Given the description of an element on the screen output the (x, y) to click on. 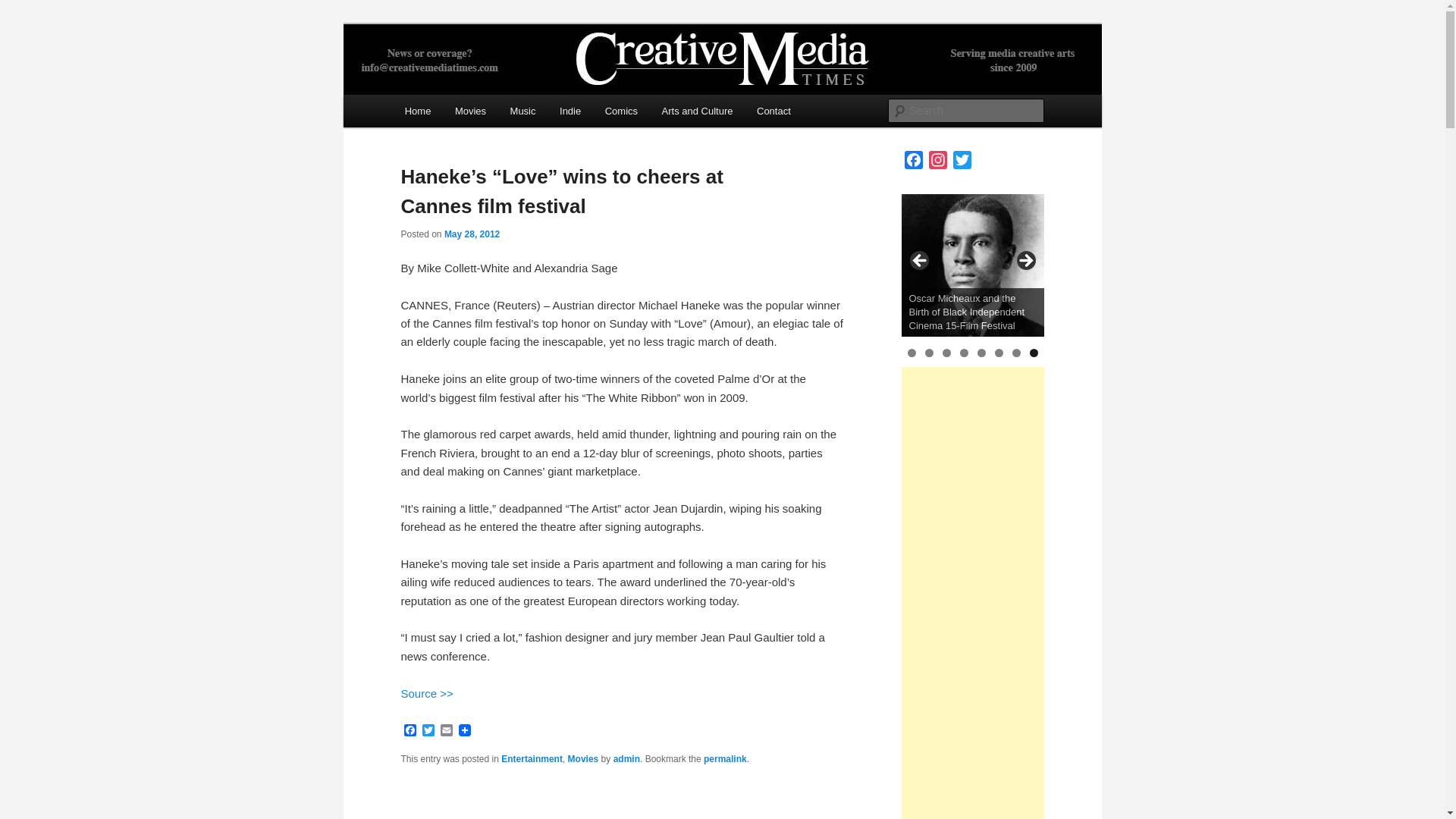
Arts and Culture (696, 111)
03 lavender hill mob (972, 265)
Music (522, 111)
Facebook (409, 730)
May 28, 2012 (471, 234)
admin (626, 758)
Email (445, 730)
Twitter (961, 162)
Contact (773, 111)
Home (417, 111)
10:00 pm (471, 234)
Facebook (409, 730)
Facebook (912, 162)
Creative Media Times (515, 78)
5 (980, 352)
